Given the description of an element on the screen output the (x, y) to click on. 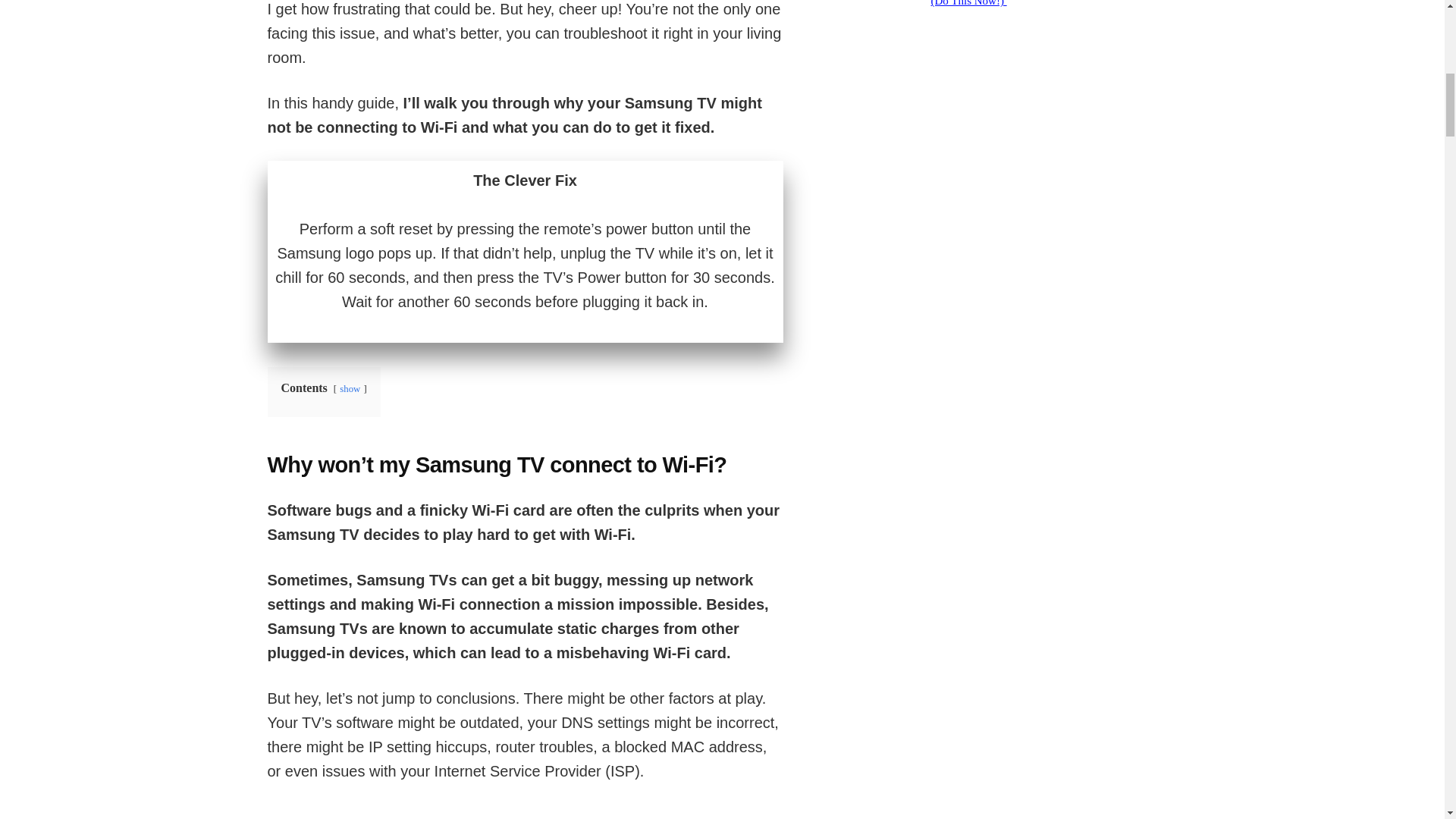
show (349, 388)
